Given the description of an element on the screen output the (x, y) to click on. 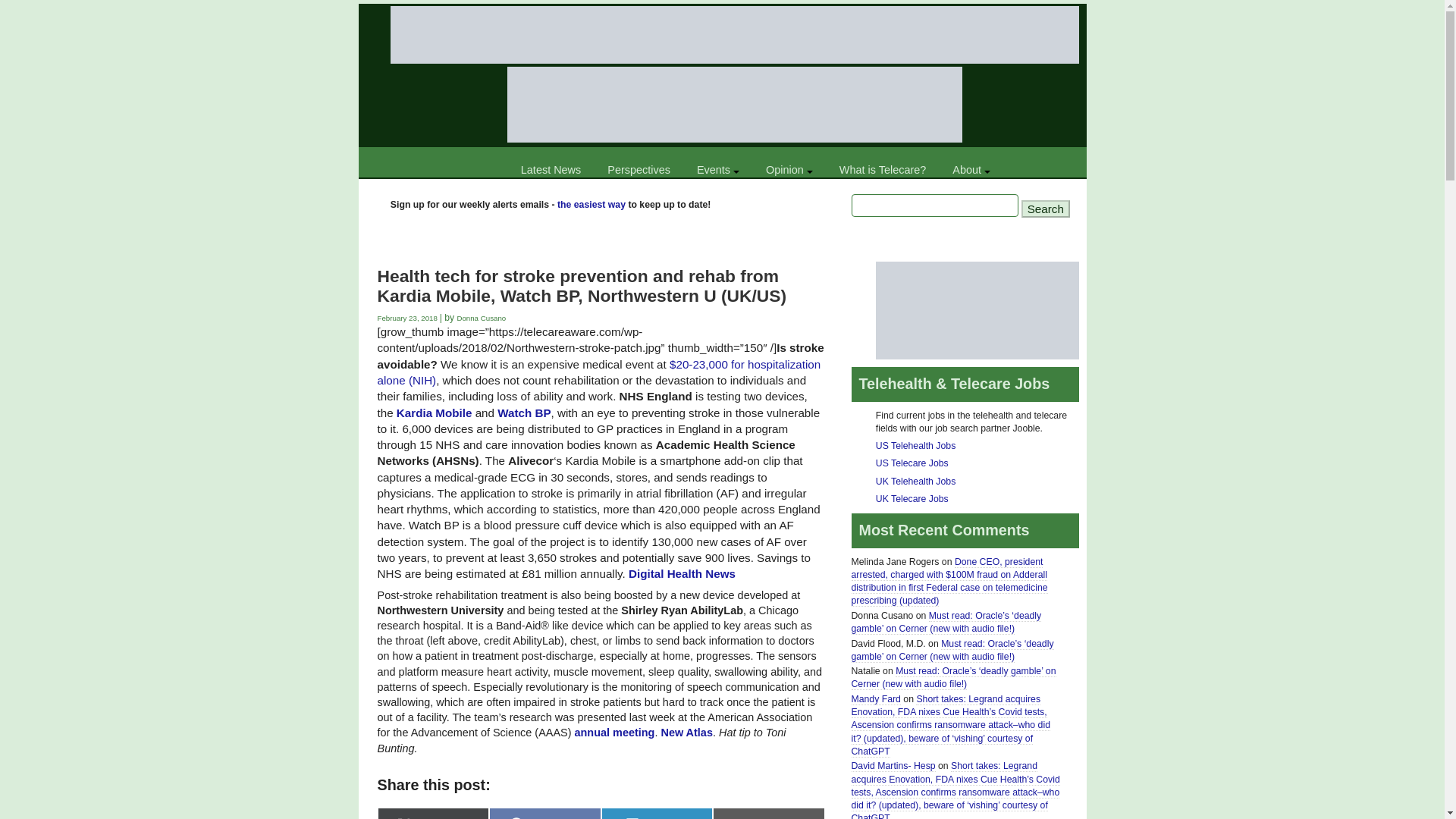
What is Telecare? (882, 169)
Search (1046, 208)
the easiest way (591, 204)
Perspectives (638, 169)
Latest News (550, 169)
Search (1046, 208)
Events (717, 169)
About (970, 169)
Opinion (789, 169)
